Given the description of an element on the screen output the (x, y) to click on. 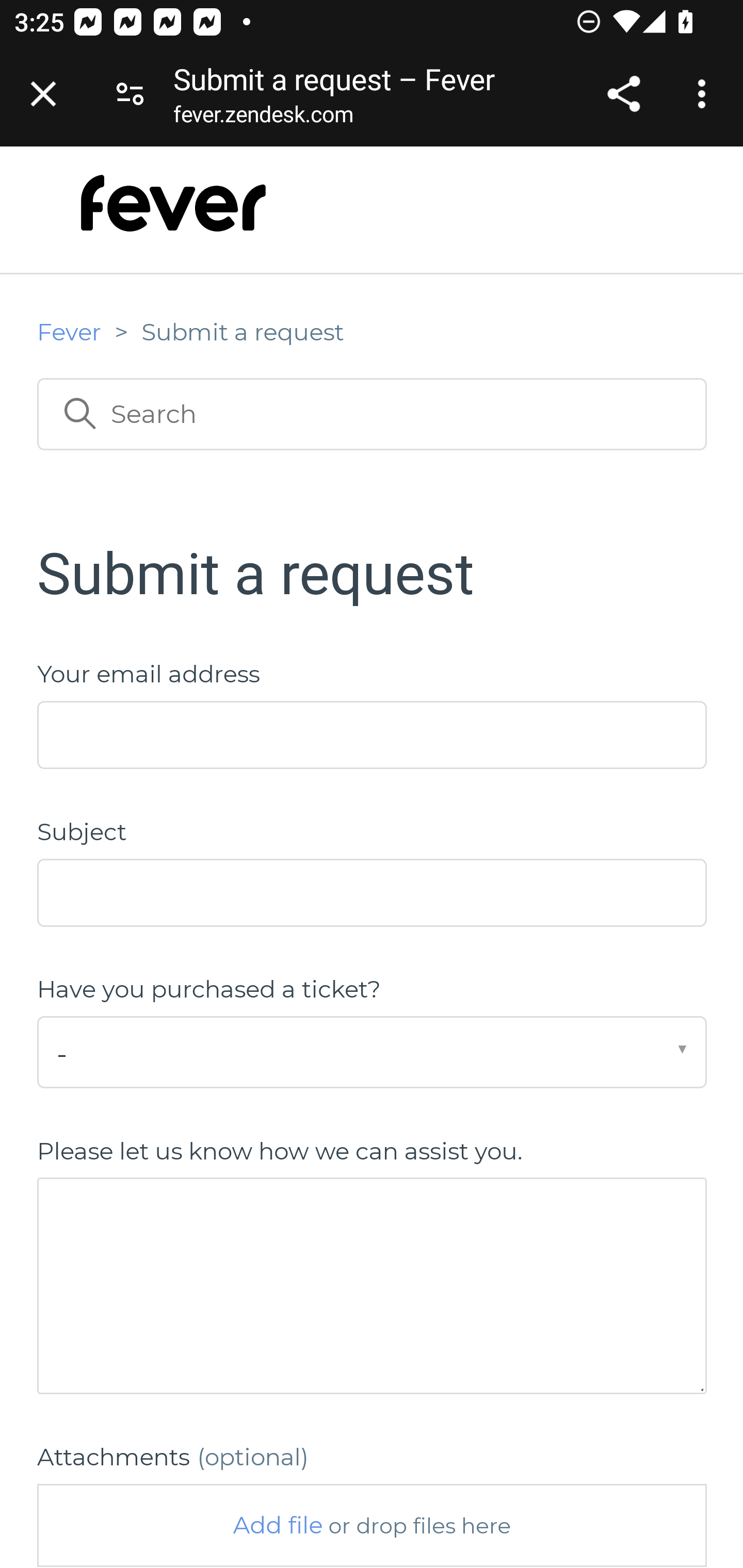
Close tab (43, 93)
Share link address (623, 93)
Customize and control Google Chrome (705, 93)
Connection is secure (129, 93)
fever.zendesk.com (263, 117)
Fever Help Center home page (173, 213)
Fever (69, 330)
Have you purchased a ticket? - ▾ (372, 1051)
Attachments(optional): No file chosen (371, 1524)
